Given the description of an element on the screen output the (x, y) to click on. 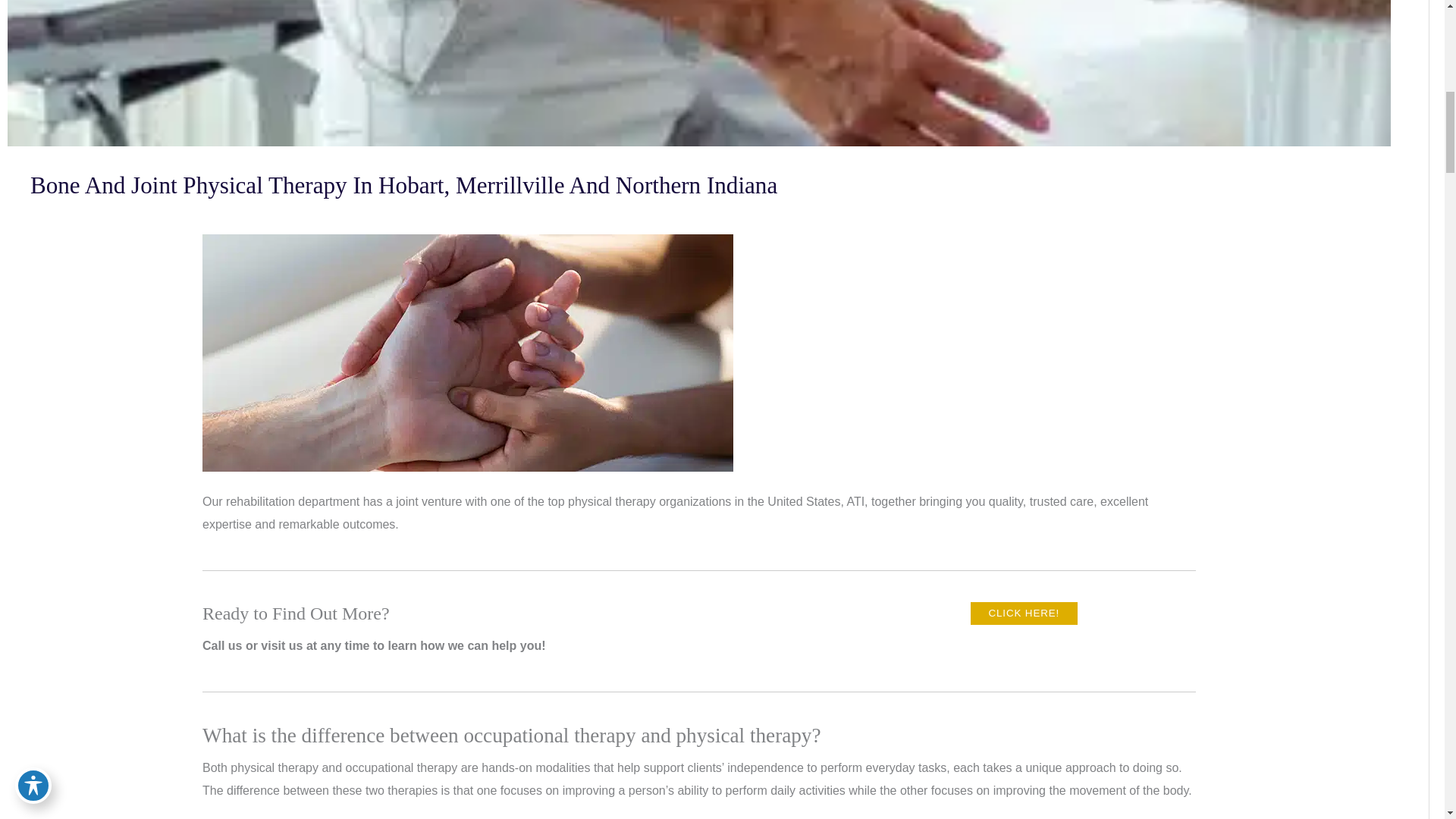
PT-Slide (467, 351)
